Given the description of an element on the screen output the (x, y) to click on. 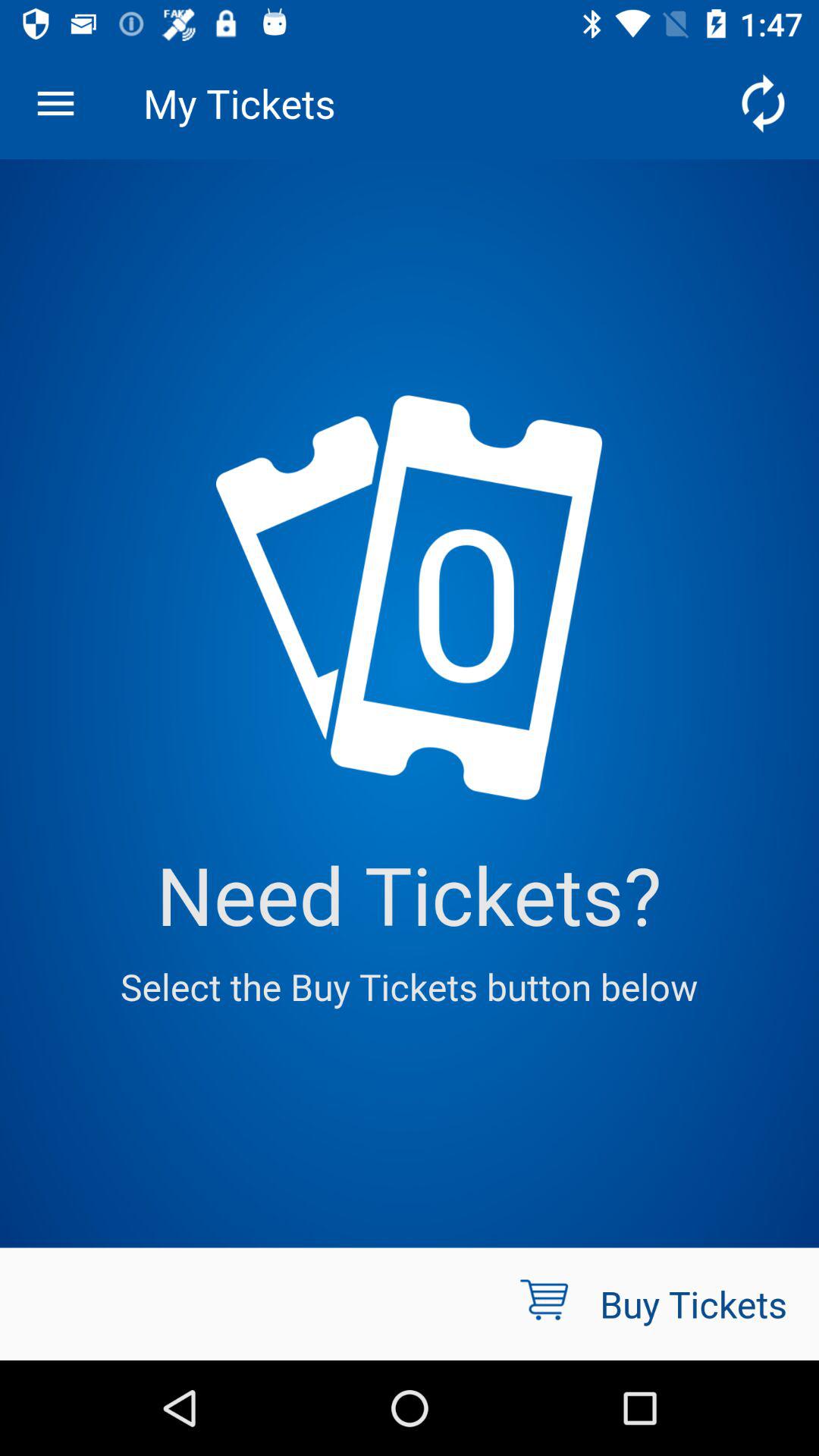
launch the icon at the top right corner (763, 103)
